Given the description of an element on the screen output the (x, y) to click on. 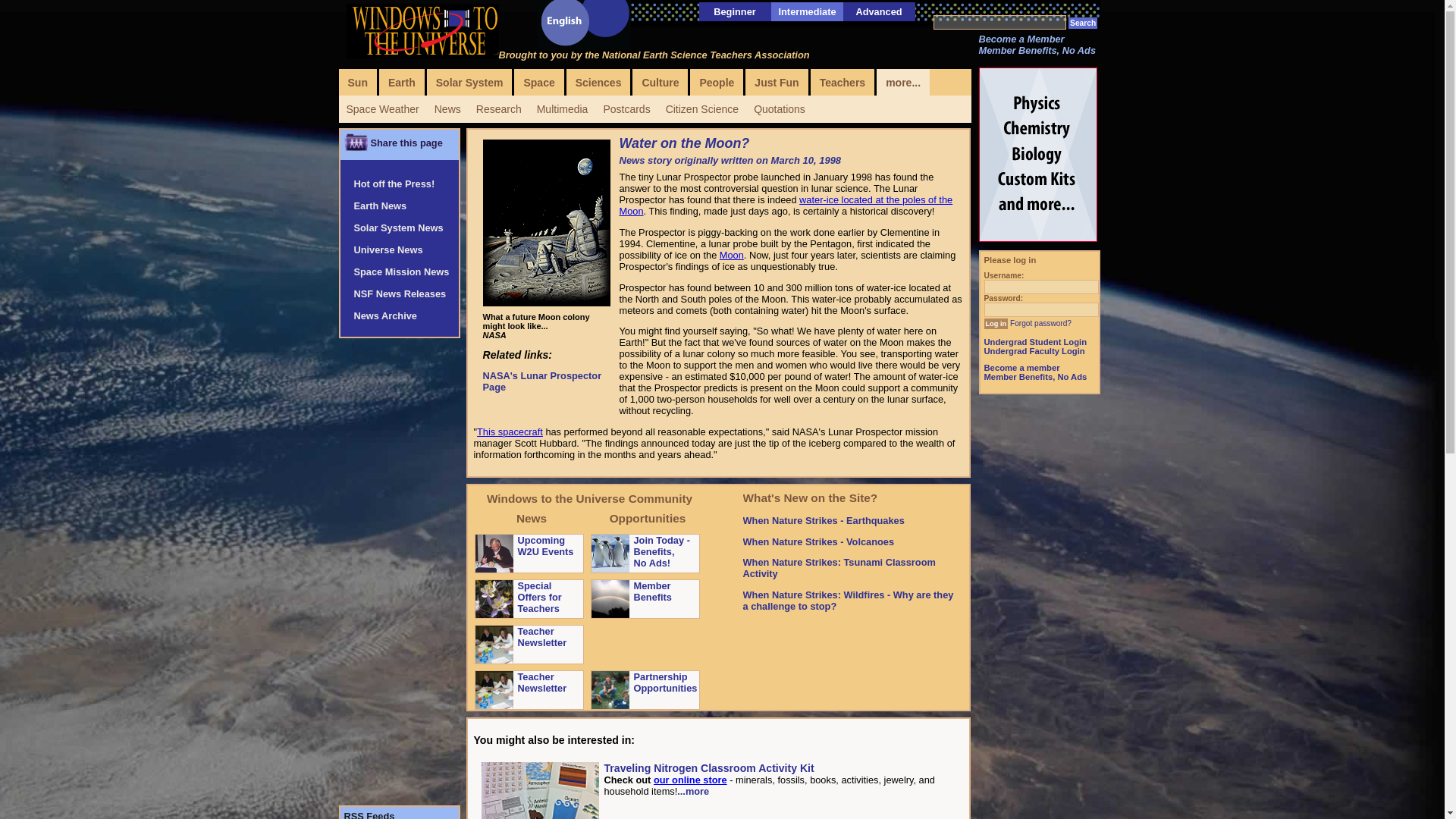
Search (1082, 22)
Member Benefits, No Ads (1037, 50)
Log in (996, 323)
Intermediate (806, 11)
Advertisement (1038, 609)
Search (1082, 22)
Search (1082, 22)
Earth (401, 82)
Beginner (734, 11)
Sun (356, 82)
Advanced (878, 11)
Become a Member (1021, 39)
